Given the description of an element on the screen output the (x, y) to click on. 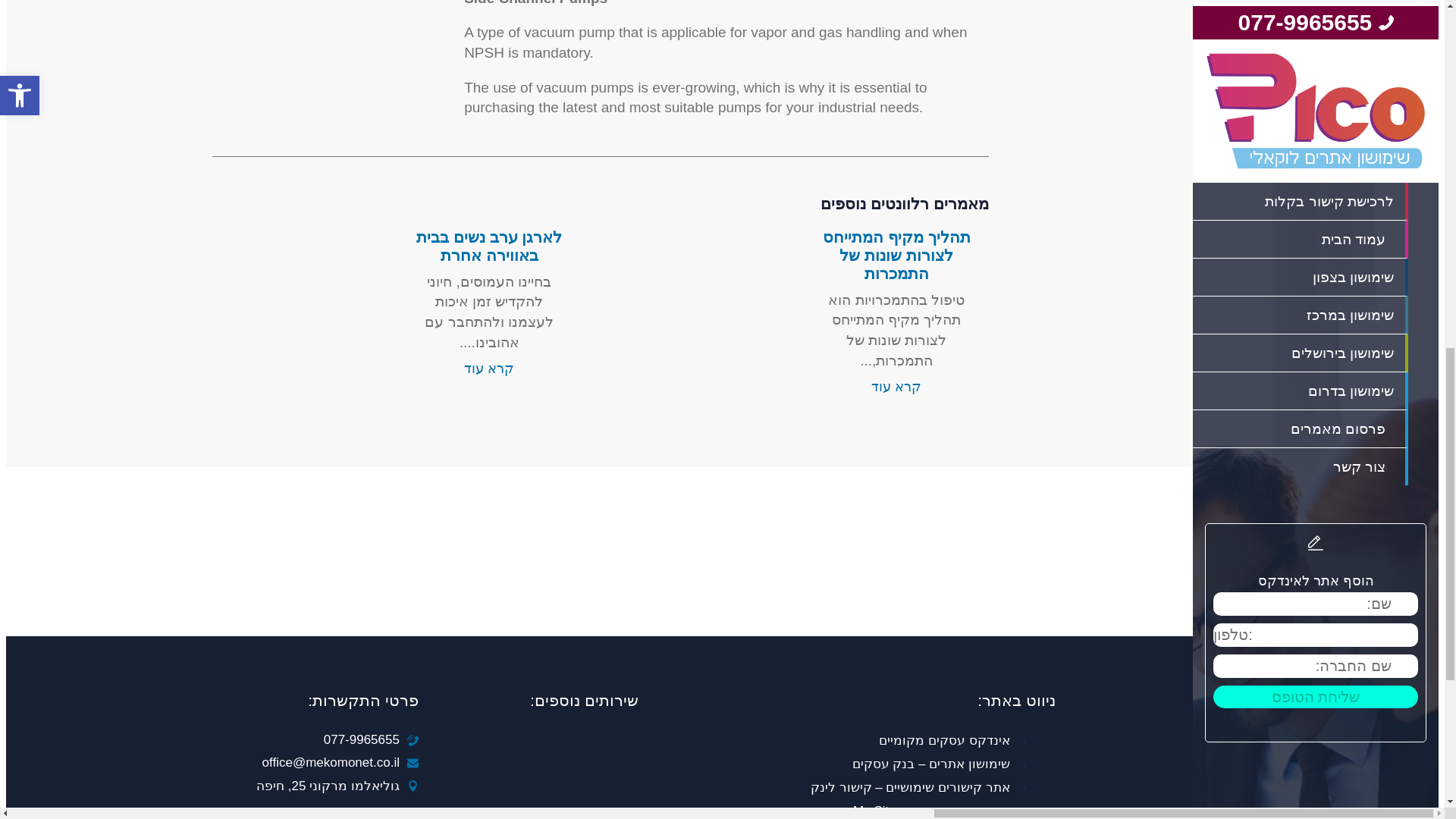
077-9965655 (360, 739)
